Given the description of an element on the screen output the (x, y) to click on. 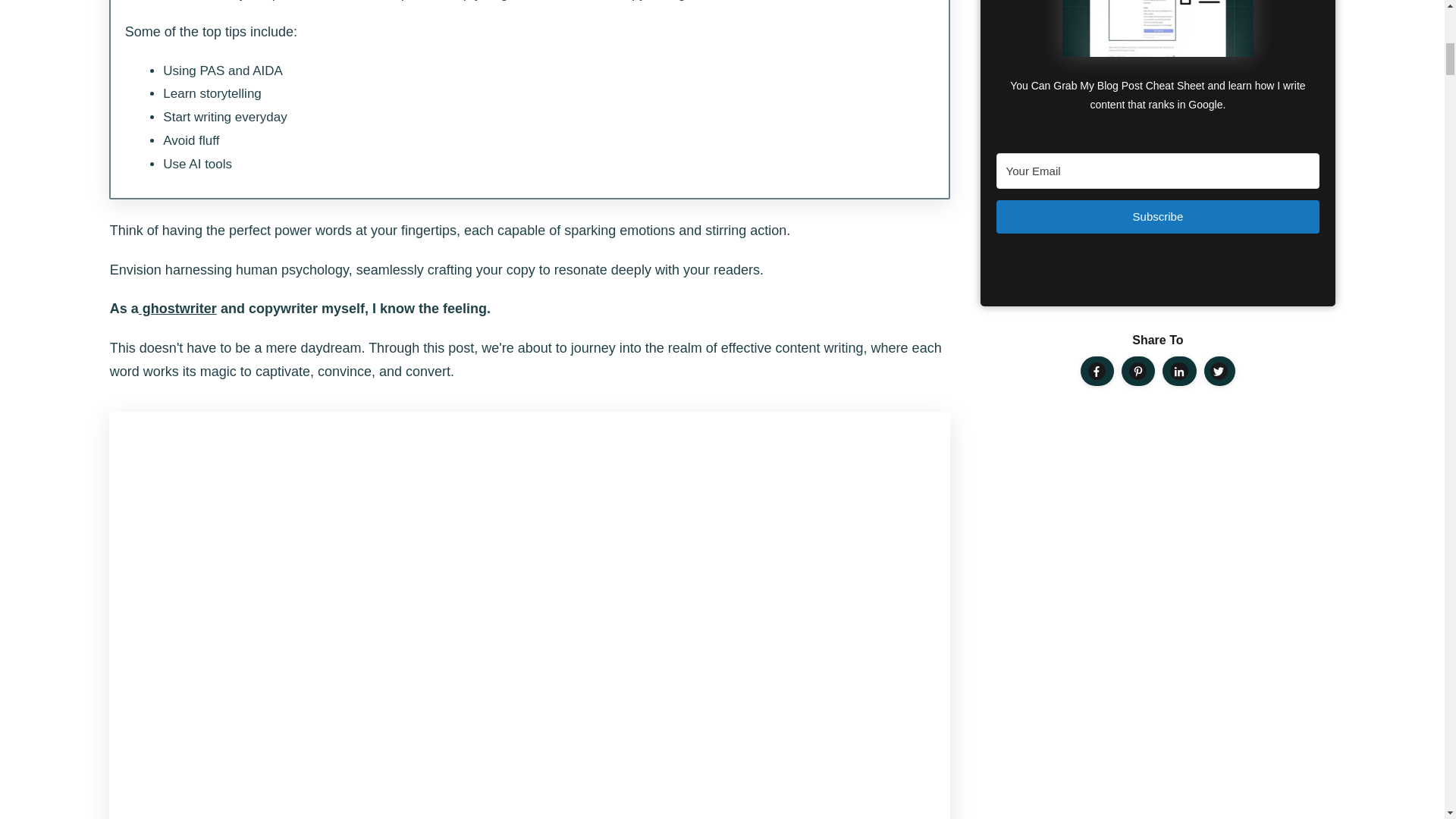
Blog post audit cheat sheet (1157, 28)
ghostwriter (177, 308)
